Given the description of an element on the screen output the (x, y) to click on. 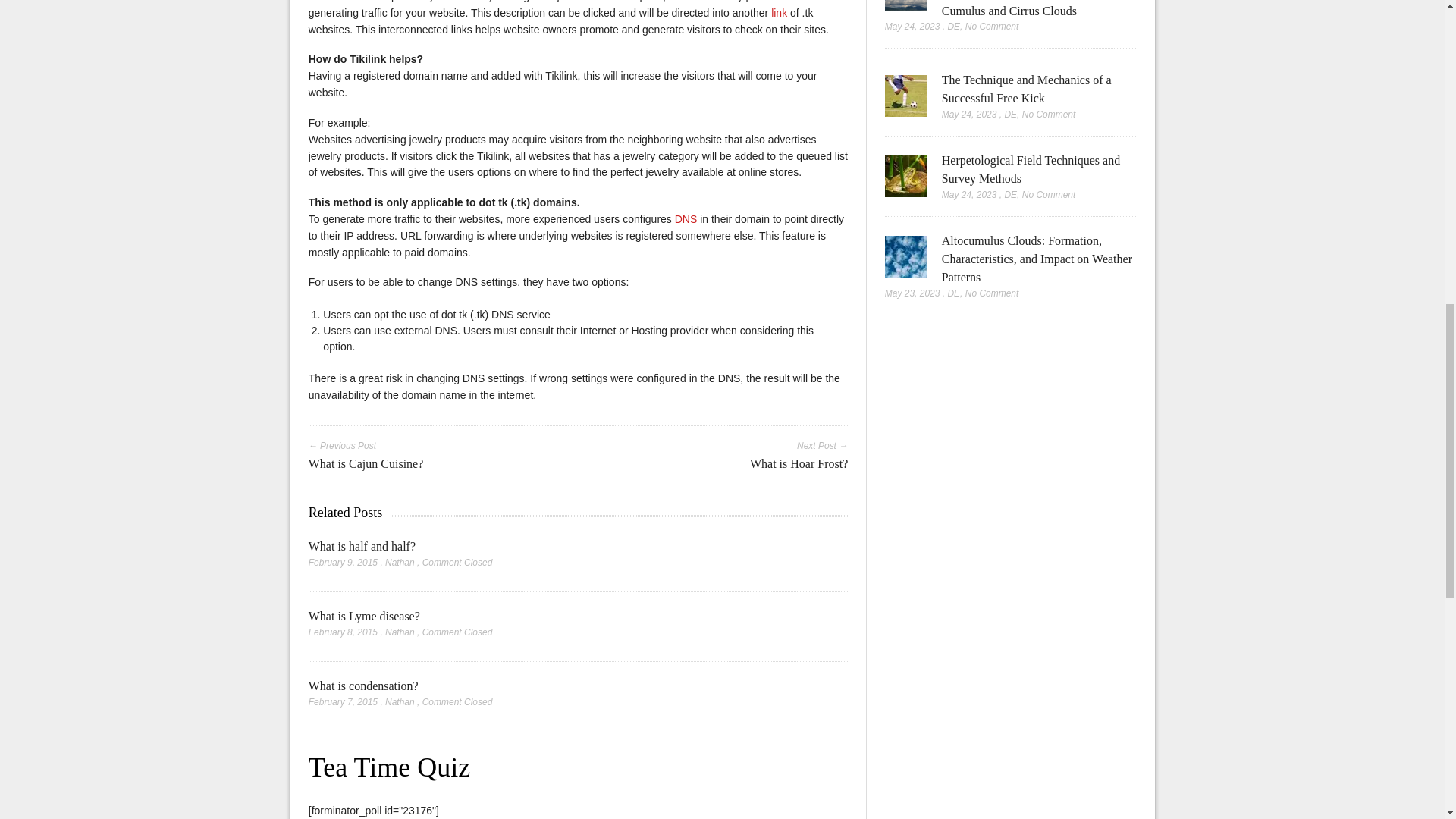
Nathan (399, 562)
What is Lyme disease? (364, 615)
What is condensation? (363, 685)
What is half and half? (361, 545)
Posts by Nathan (399, 632)
What is half and half? (361, 545)
Nathan (399, 632)
DNS (687, 218)
Nathan (399, 701)
Posts by Nathan (399, 701)
Posts by Nathan (399, 562)
WHAT IS DOMAN NAME SERVER? (687, 218)
WHAT IS A LINK (780, 12)
What is condensation? (363, 685)
What is Lyme disease? (364, 615)
